Given the description of an element on the screen output the (x, y) to click on. 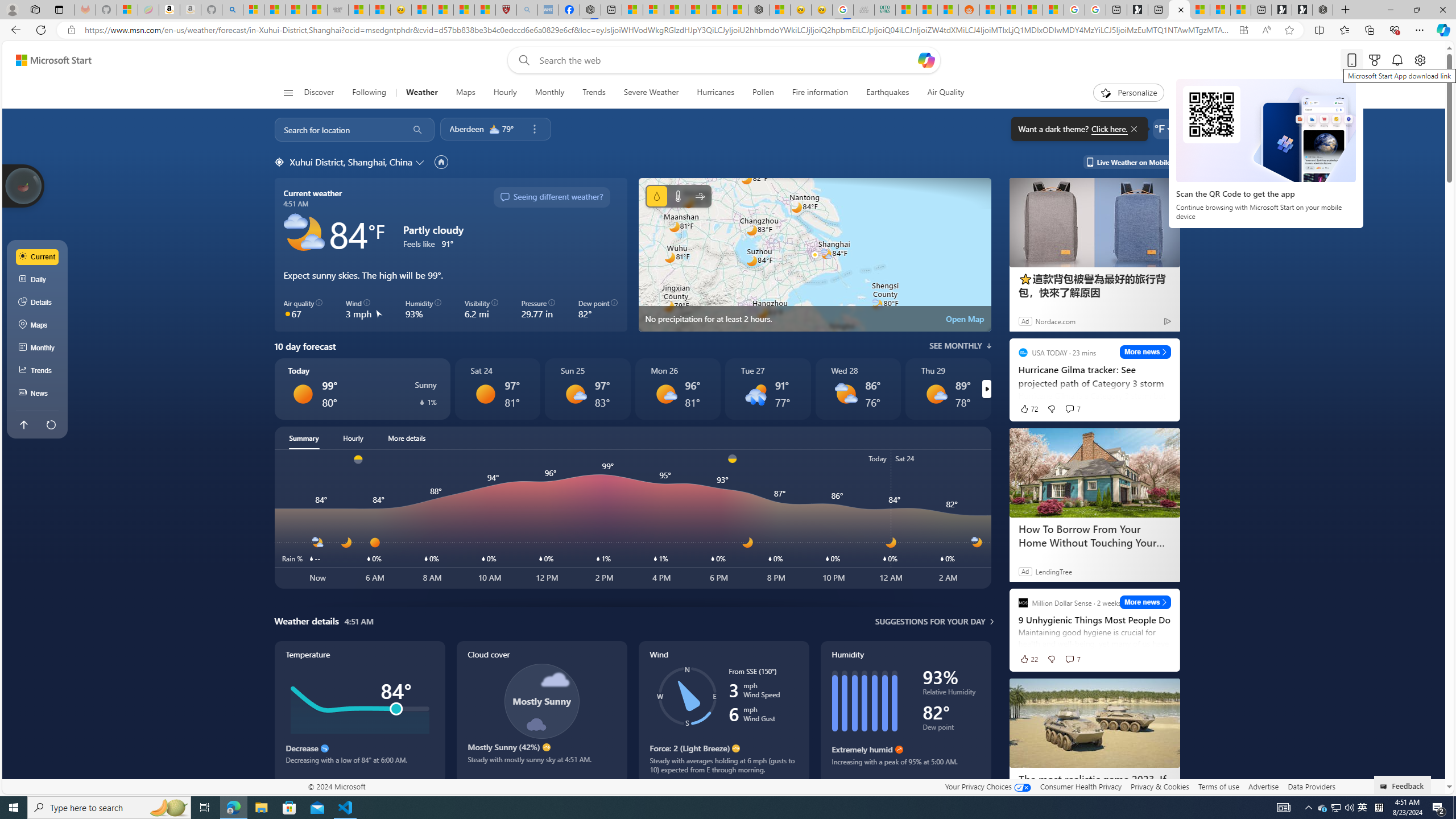
Change location (420, 161)
Recipes - MSN (421, 9)
Partly cloudy (303, 232)
Precipitation (656, 195)
Class: button-glyph (287, 92)
Navy Quest (863, 9)
Seeing different weather? (551, 196)
